Given the description of an element on the screen output the (x, y) to click on. 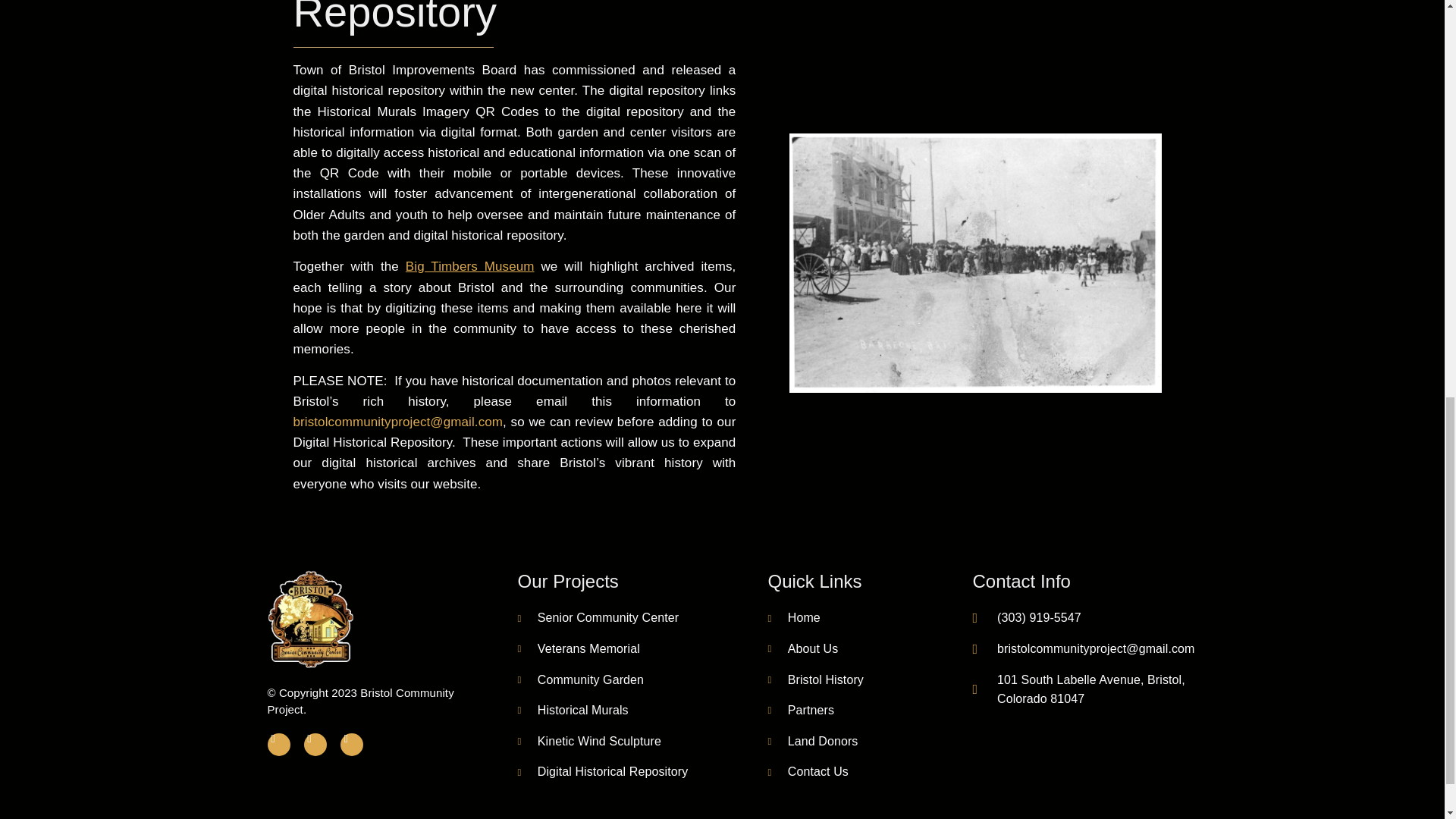
Senior Community Center (597, 618)
Digital Historical Repository (601, 772)
Kinetic Wind Sculpture (588, 741)
Partners (800, 710)
Historical Murals (571, 710)
Veterans Memorial (577, 649)
Land Donors (812, 741)
Home (793, 618)
Contact Us (807, 772)
About Us (802, 649)
Big Timbers Museum (470, 266)
Community Garden (579, 680)
Bristol History (815, 680)
